Given the description of an element on the screen output the (x, y) to click on. 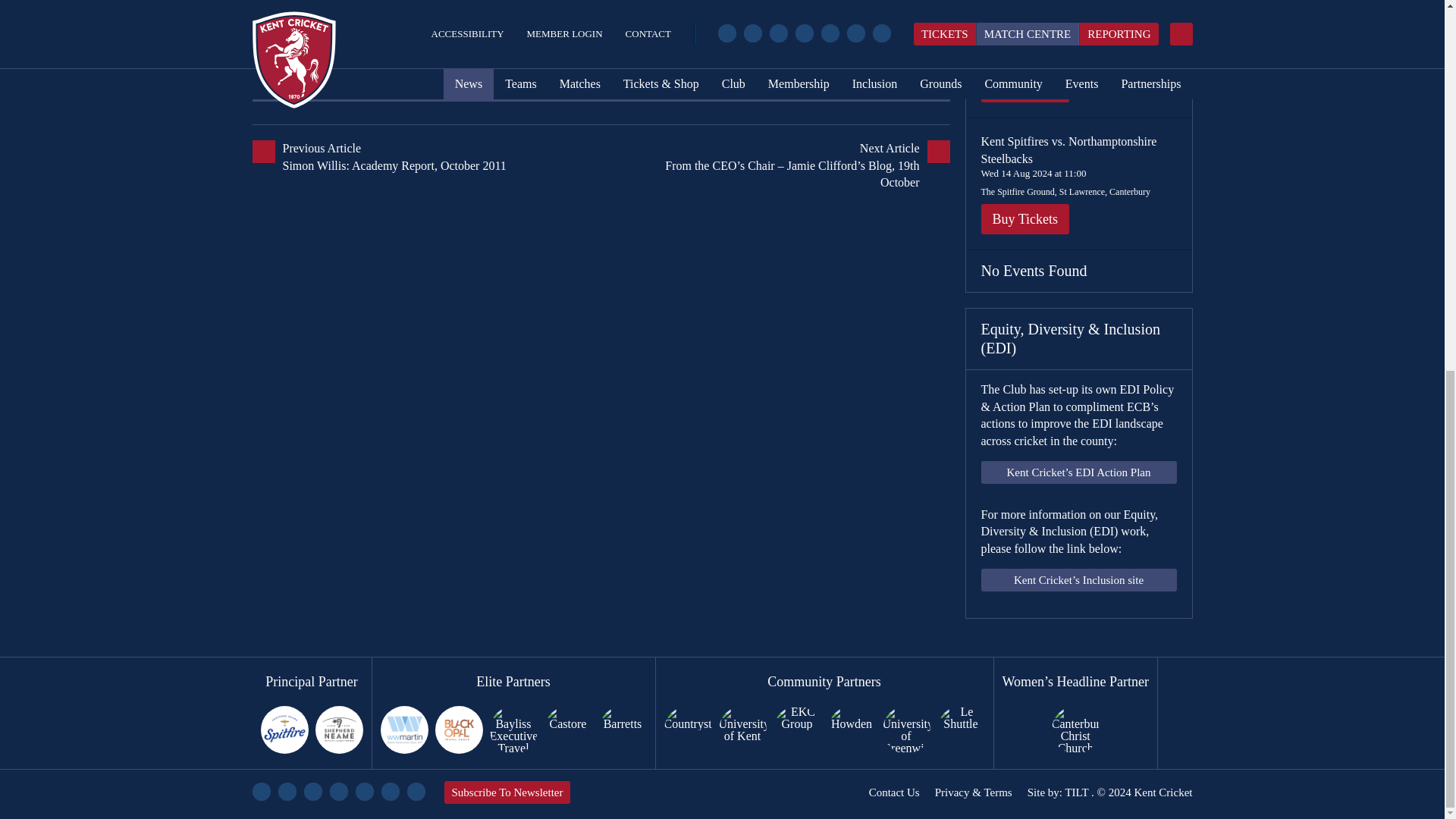
Previous Article (425, 157)
Web Design Kent (1075, 792)
Next Article (774, 165)
